Given the description of an element on the screen output the (x, y) to click on. 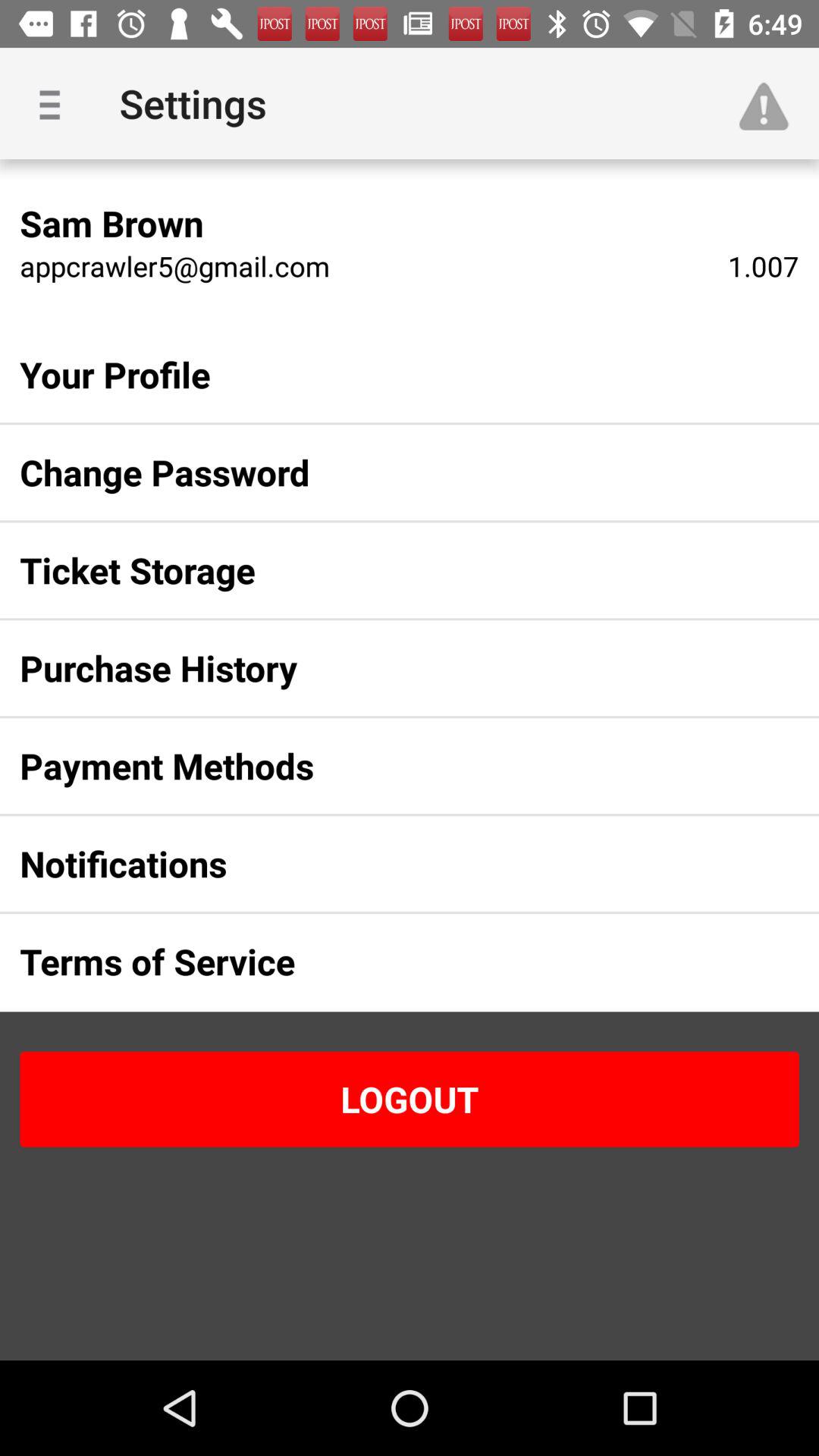
turn on the purchase history item (385, 668)
